Given the description of an element on the screen output the (x, y) to click on. 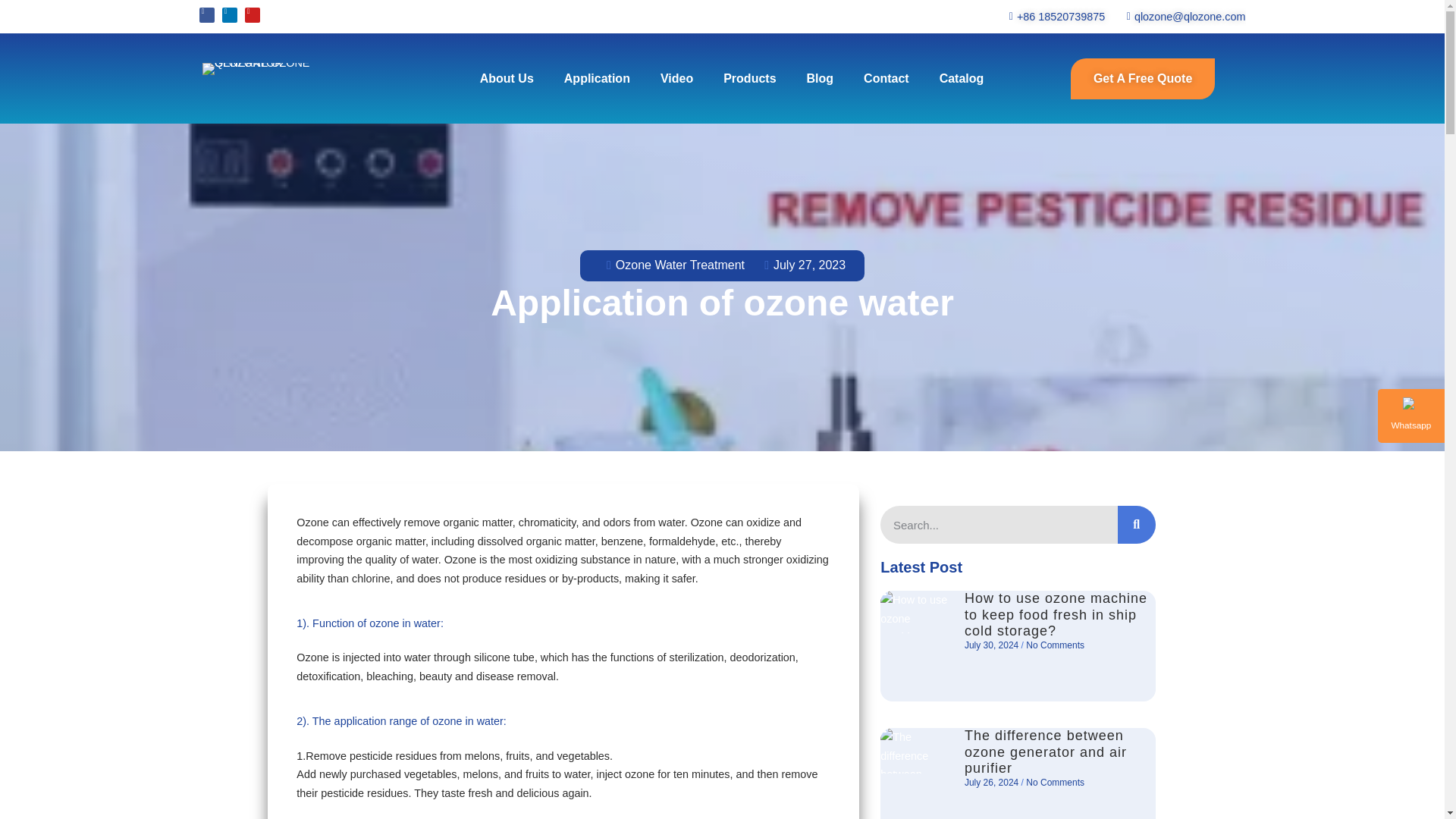
About Us (506, 78)
Products (748, 78)
Video (676, 78)
Application (596, 78)
